Given the description of an element on the screen output the (x, y) to click on. 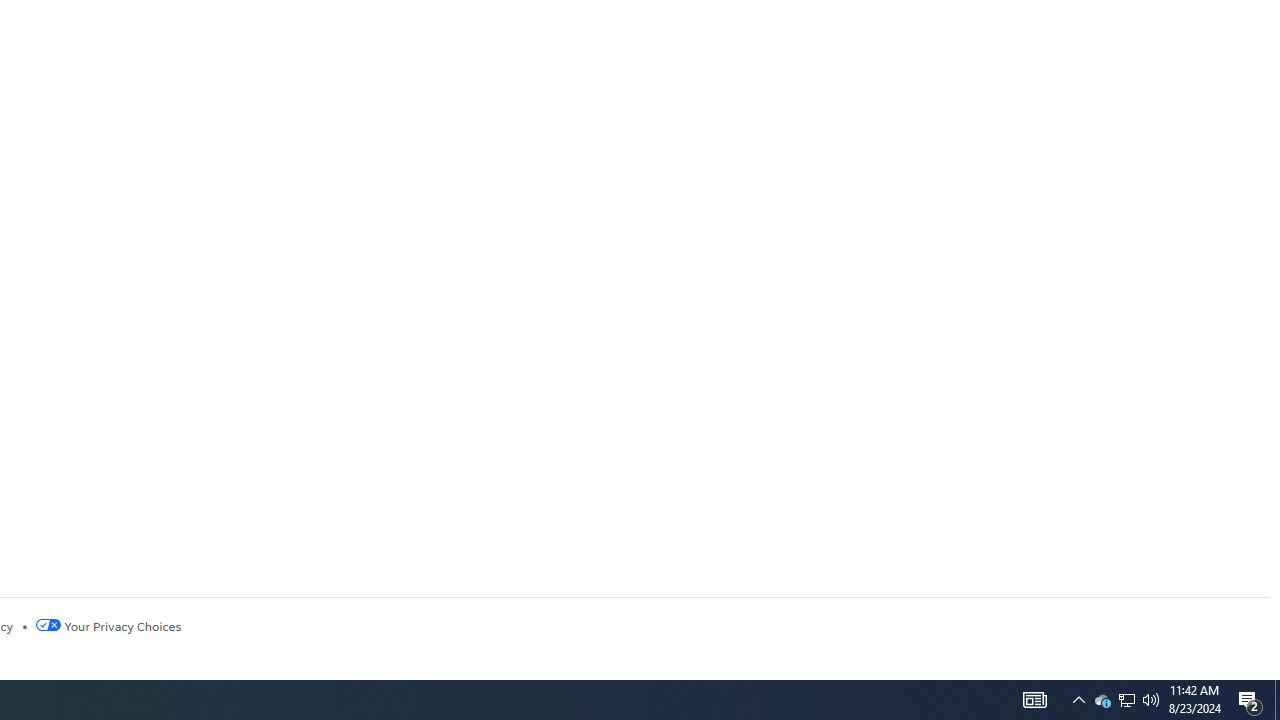
 Your Privacy Choices (108, 626)
